Given the description of an element on the screen output the (x, y) to click on. 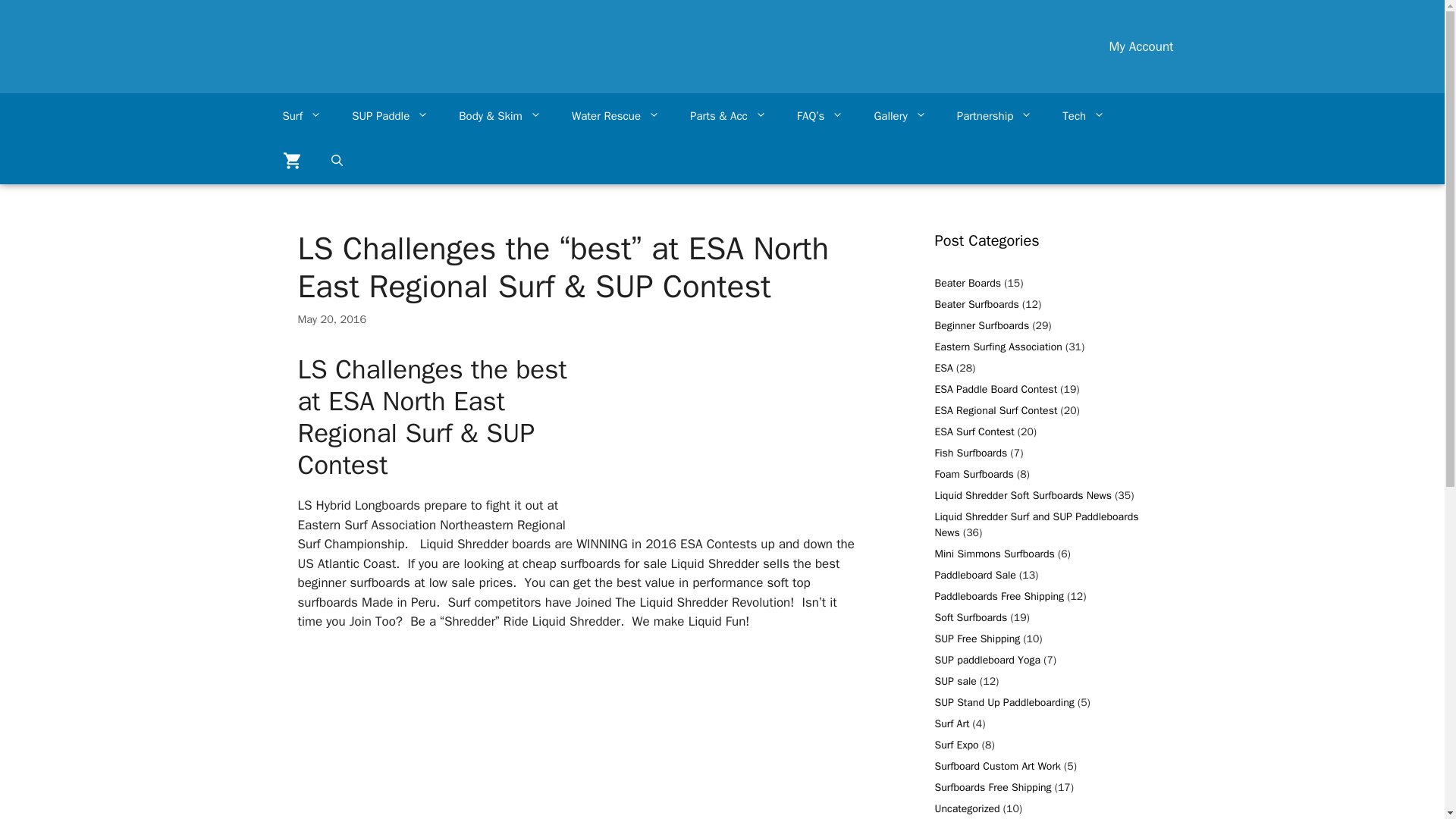
View your shopping cart (290, 160)
My Account (1141, 45)
